Given the description of an element on the screen output the (x, y) to click on. 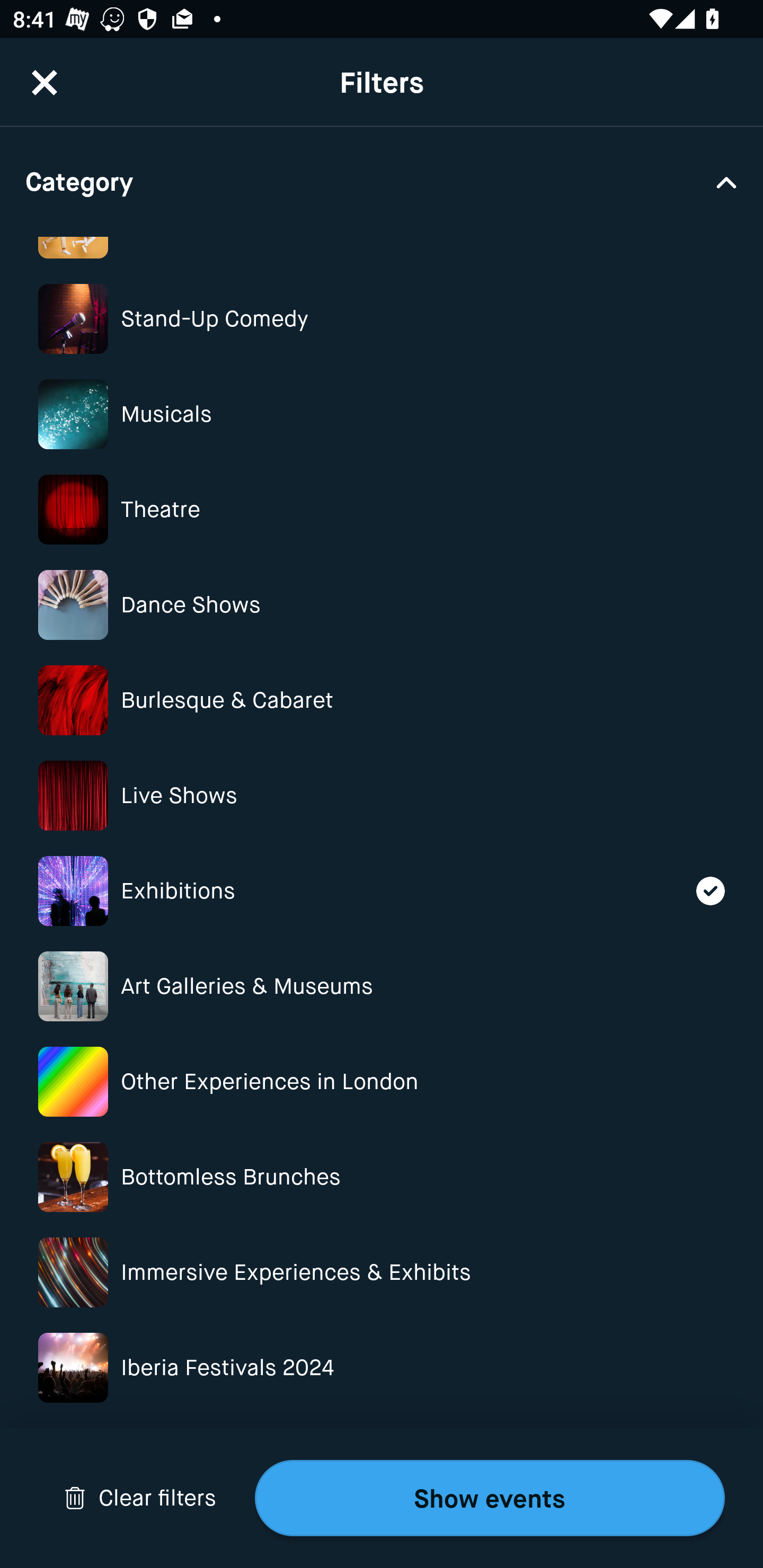
Category Drop Down Arrow (381, 181)
Category Image Stand-Up Comedy (381, 318)
Category Image Musicals (381, 414)
Category Image Theatre (381, 509)
Category Image Dance Shows (381, 604)
Category Image Burlesque & Cabaret (381, 699)
Category Image Live Shows (381, 795)
Category Image Exhibitions Selected Icon (381, 890)
Category Image Art Galleries & Museums (381, 985)
Category Image Other Experiences in London (381, 1081)
Category Image Bottomless Brunches (381, 1176)
Category Image Immersive Experiences & Exhibits (381, 1272)
Category Image Iberia Festivals 2024 (381, 1367)
Drop Down Arrow Clear filters (139, 1497)
Show events (489, 1497)
